Given the description of an element on the screen output the (x, y) to click on. 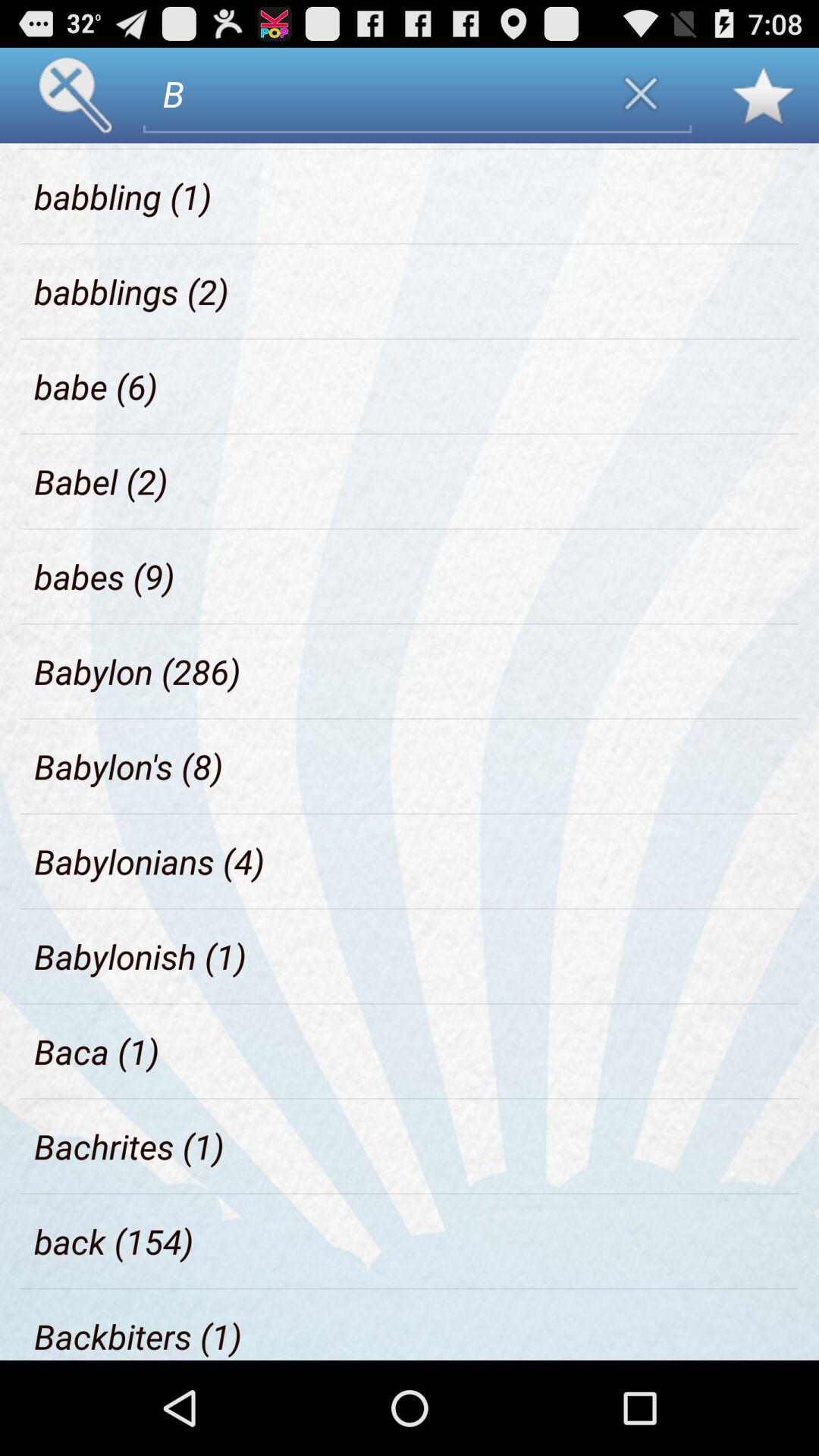
turn on the babylonish (1) item (140, 956)
